Given the description of an element on the screen output the (x, y) to click on. 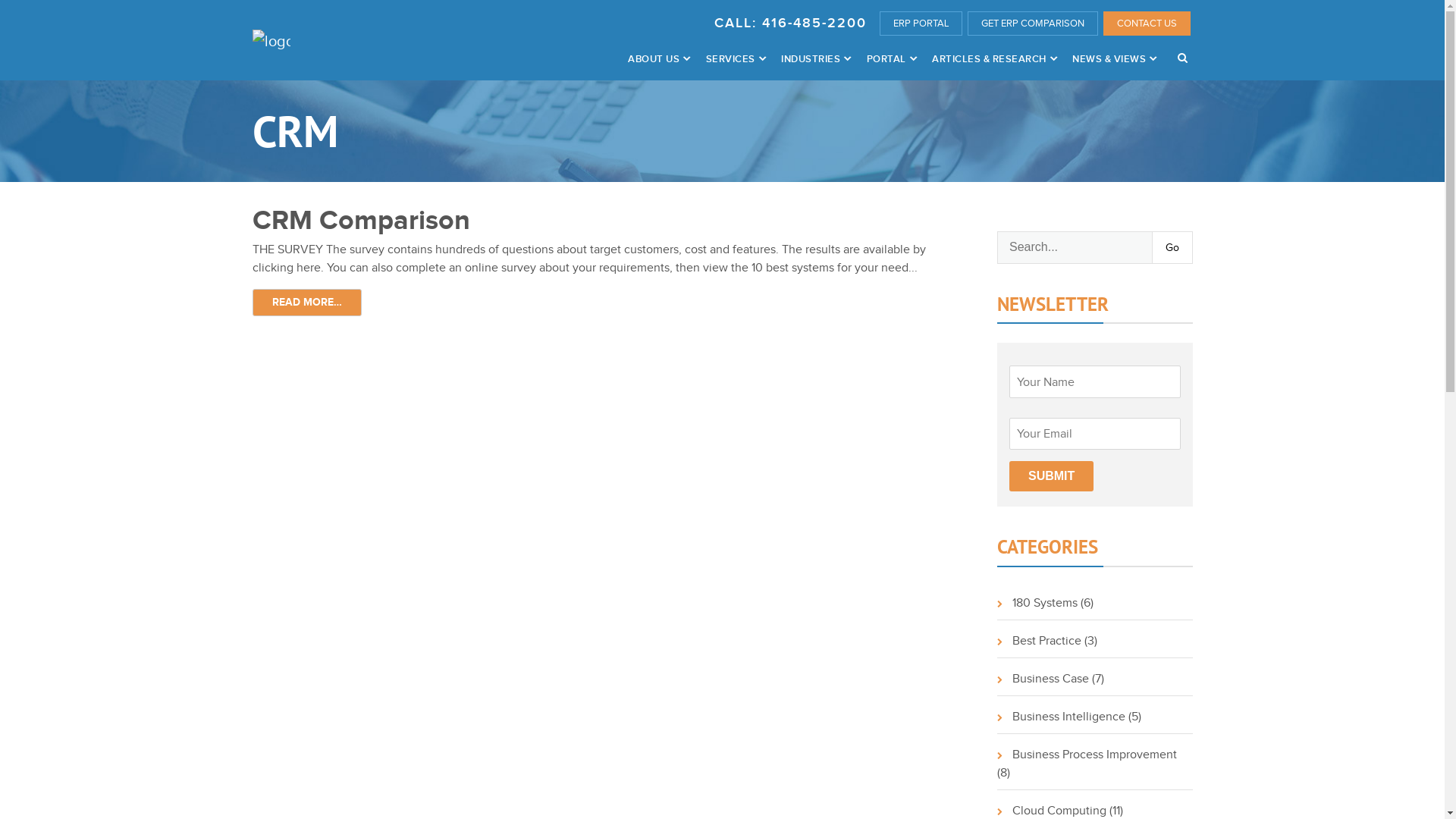
GET ERP COMPARISON Element type: text (1032, 23)
SERVICES Element type: text (736, 58)
ABOUT US Element type: text (659, 58)
180 Systems Element type: text (1037, 602)
Business Process Improvement Element type: text (1086, 753)
CONTACT US Element type: text (1145, 23)
Go Element type: text (1171, 247)
CRM Comparison Element type: text (360, 219)
Best Practice Element type: text (1039, 639)
INDUSTRIES Element type: text (817, 58)
NEWS & VIEWS Element type: text (1115, 58)
ERP PORTAL Element type: text (920, 23)
Submit Element type: text (1051, 476)
Cloud Computing Element type: text (1051, 809)
Business Case Element type: text (1042, 677)
PORTAL Element type: text (892, 58)
CALL: 416-485-2200 Element type: text (790, 22)
ARTICLES & RESEARCH Element type: text (994, 58)
Business Intelligence Element type: text (1061, 715)
